Given the description of an element on the screen output the (x, y) to click on. 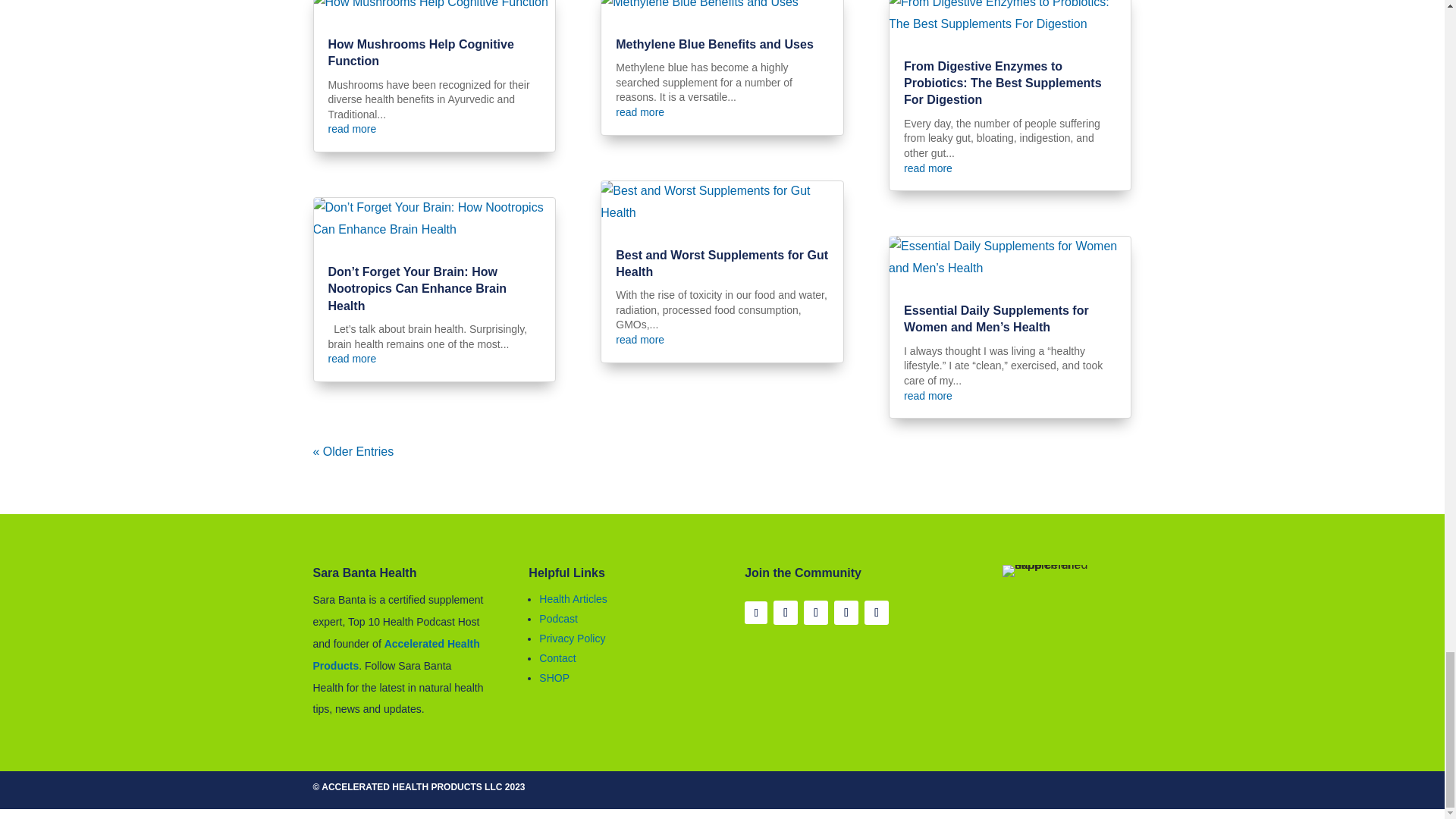
accelerated health products (396, 654)
